Given the description of an element on the screen output the (x, y) to click on. 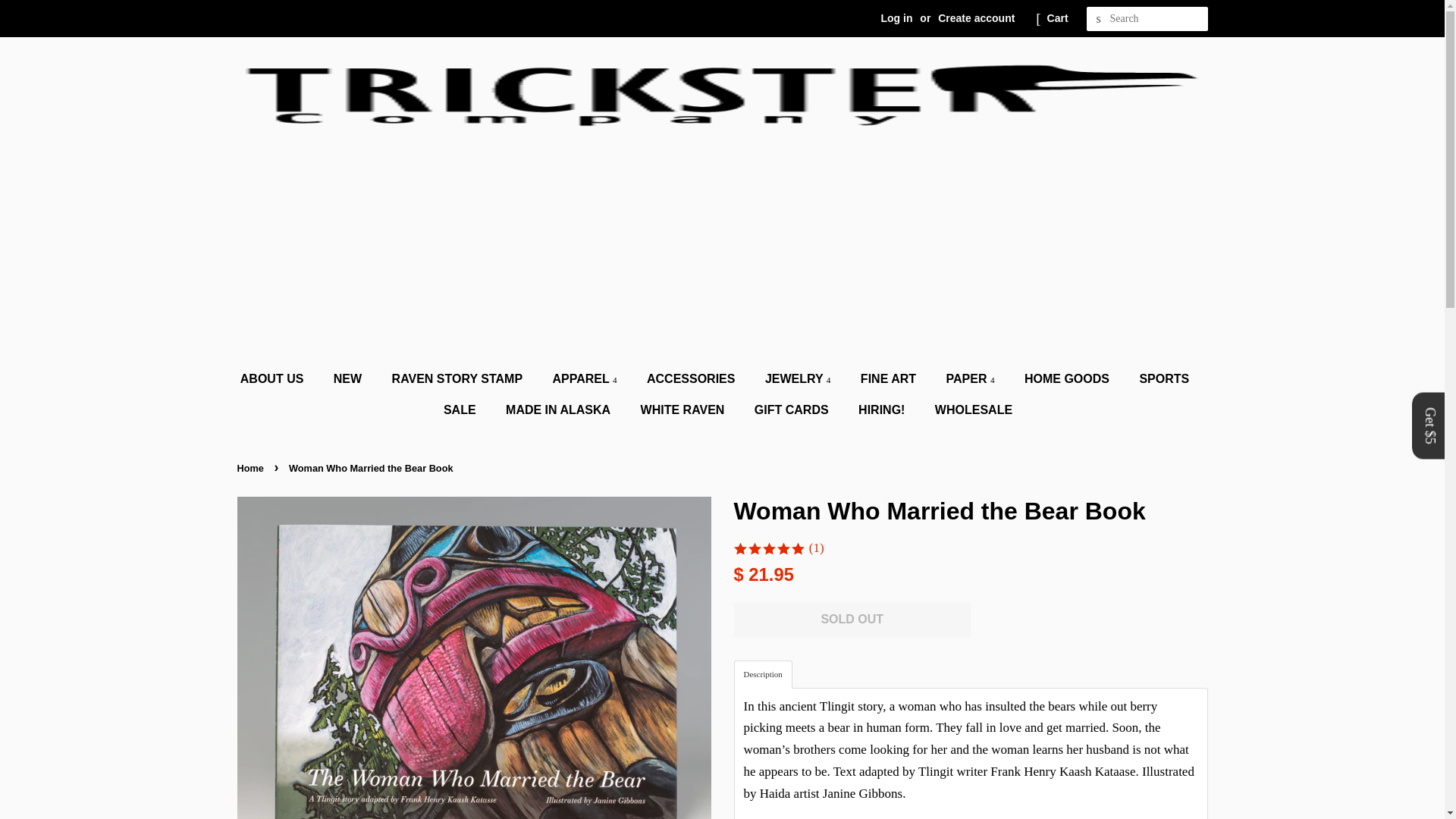
Cart (1057, 18)
SEARCH (1097, 18)
Create account (975, 18)
Log in (896, 18)
Back to the frontpage (250, 468)
